Given the description of an element on the screen output the (x, y) to click on. 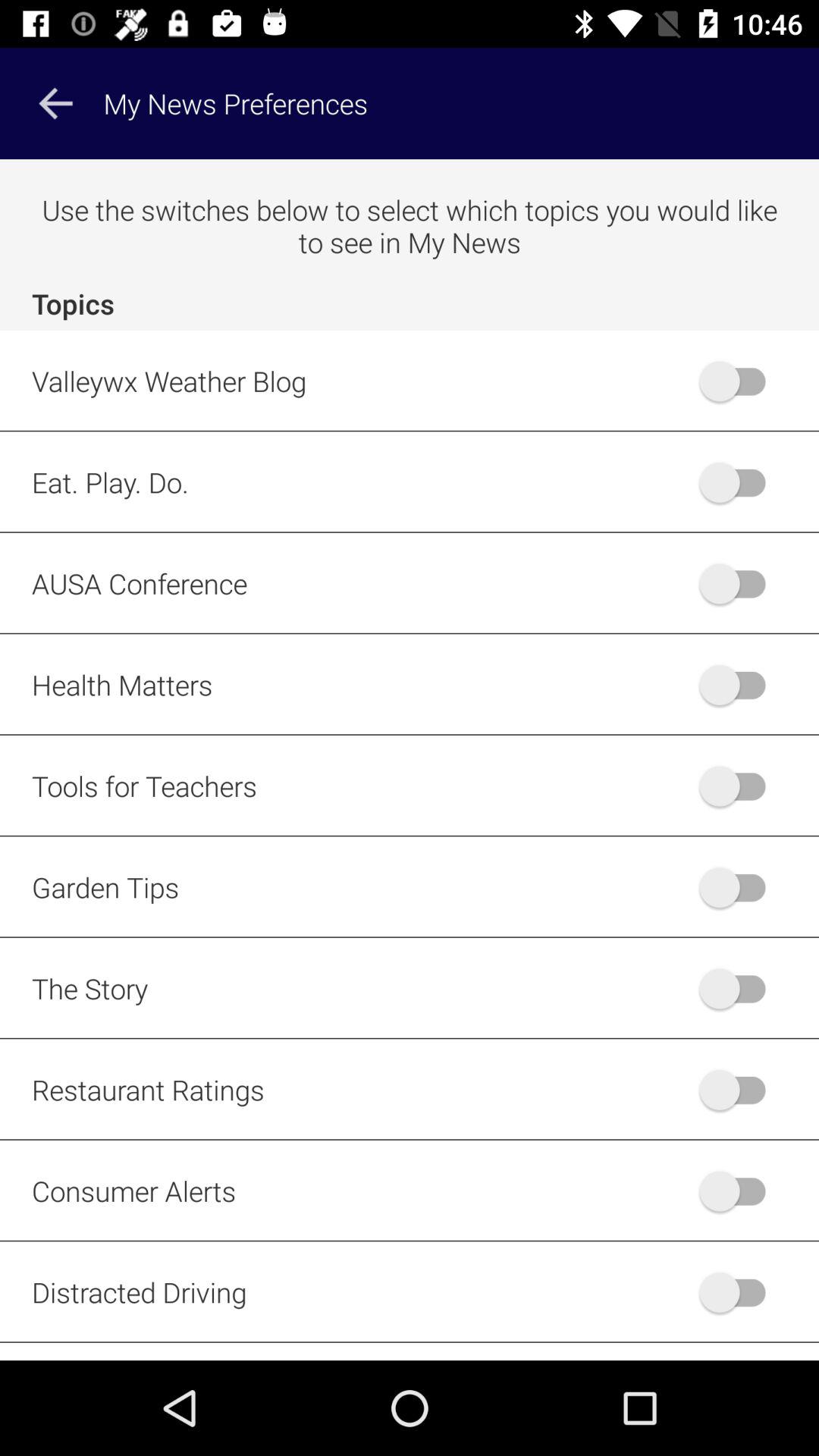
toggle restaurant ratings option (739, 1089)
